Given the description of an element on the screen output the (x, y) to click on. 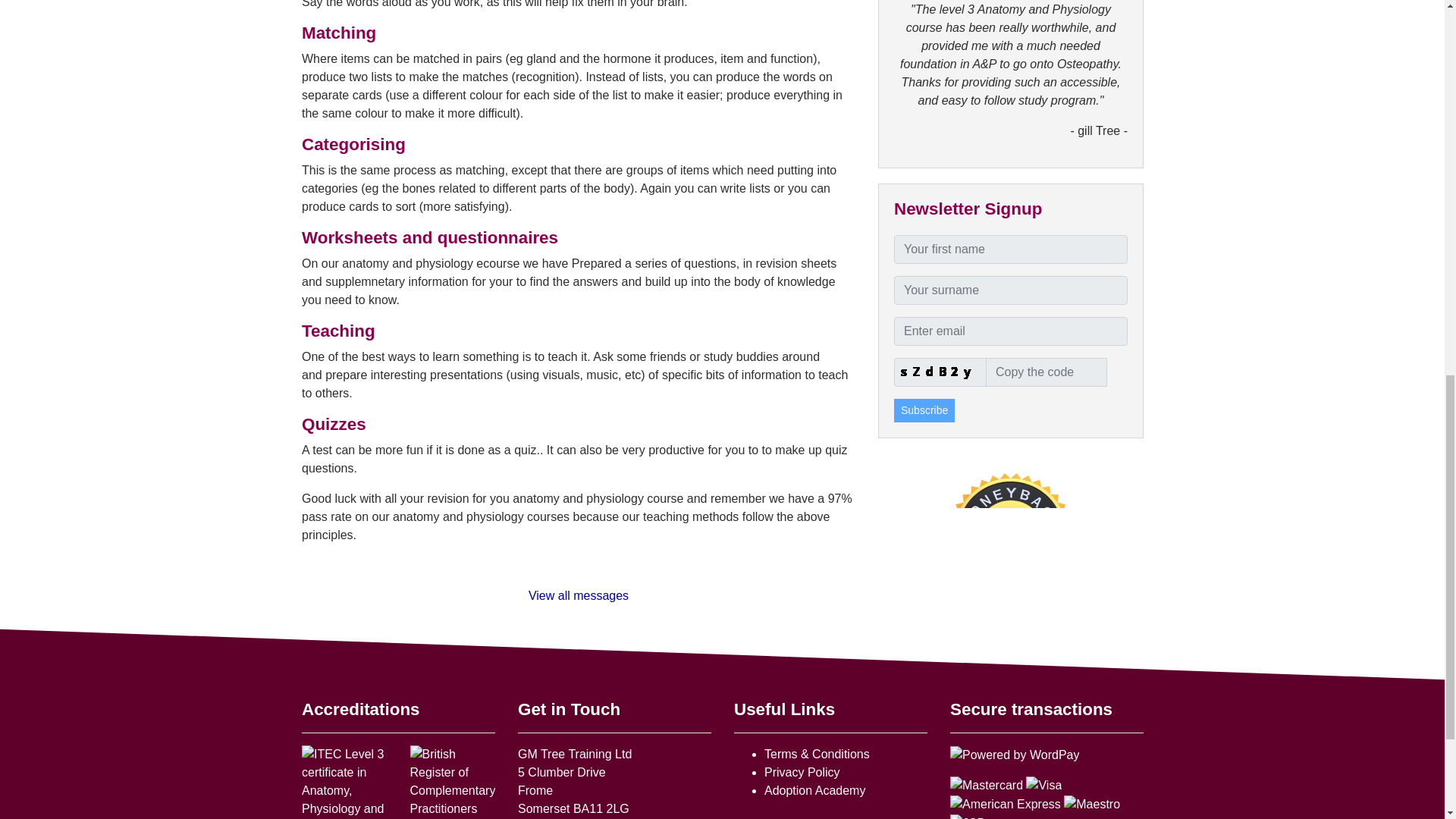
Subscribe (923, 410)
View all messages (577, 594)
